Given the description of an element on the screen output the (x, y) to click on. 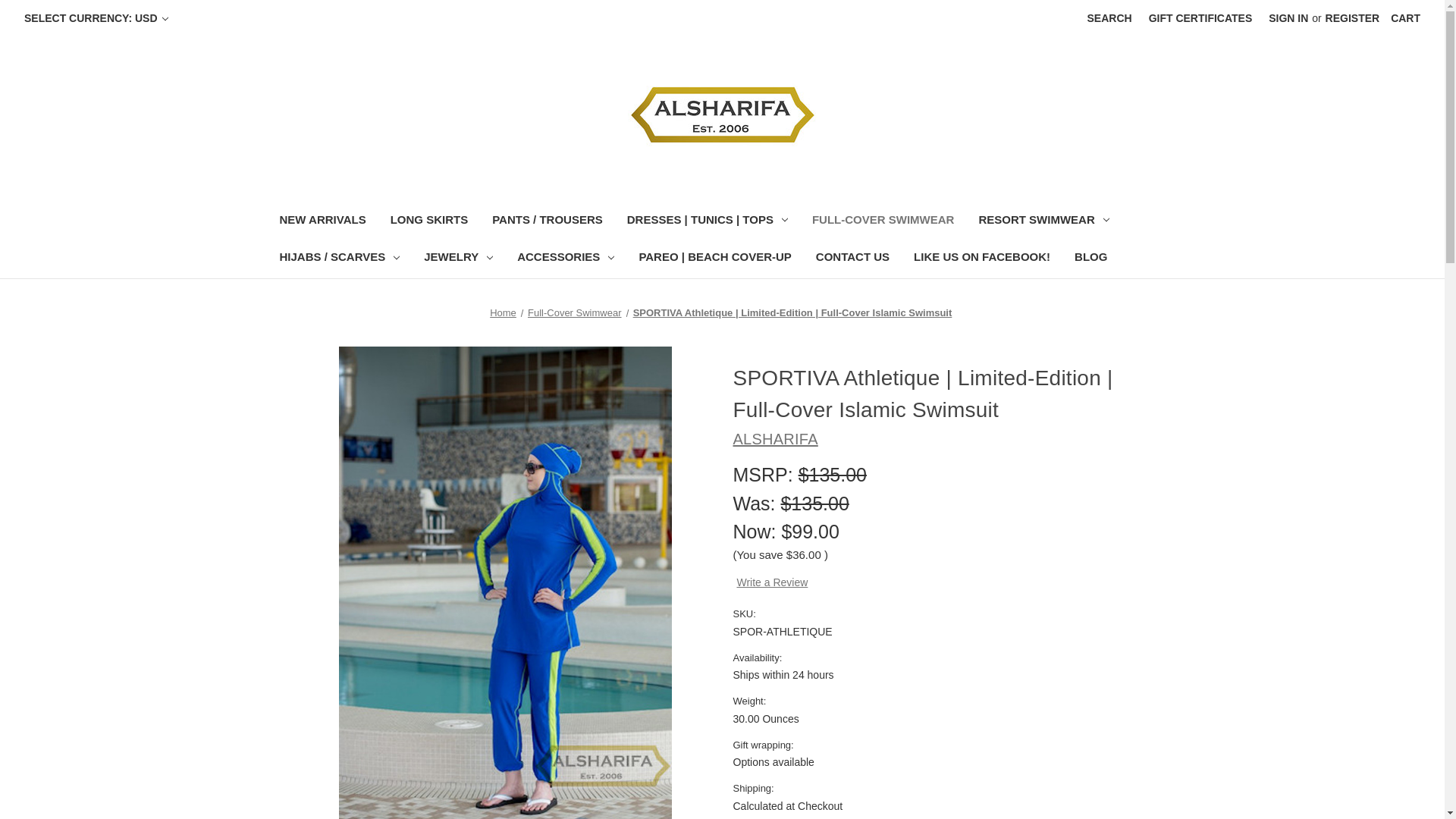
SEARCH (1109, 18)
CART (1404, 18)
SELECT CURRENCY: USD (96, 18)
NEW ARRIVALS (321, 221)
REGISTER (1353, 18)
SIGN IN (1288, 18)
Alsharifa.com (721, 114)
GIFT CERTIFICATES (1200, 18)
LONG SKIRTS (429, 221)
RESORT SWIMWEAR (1043, 221)
